Given the description of an element on the screen output the (x, y) to click on. 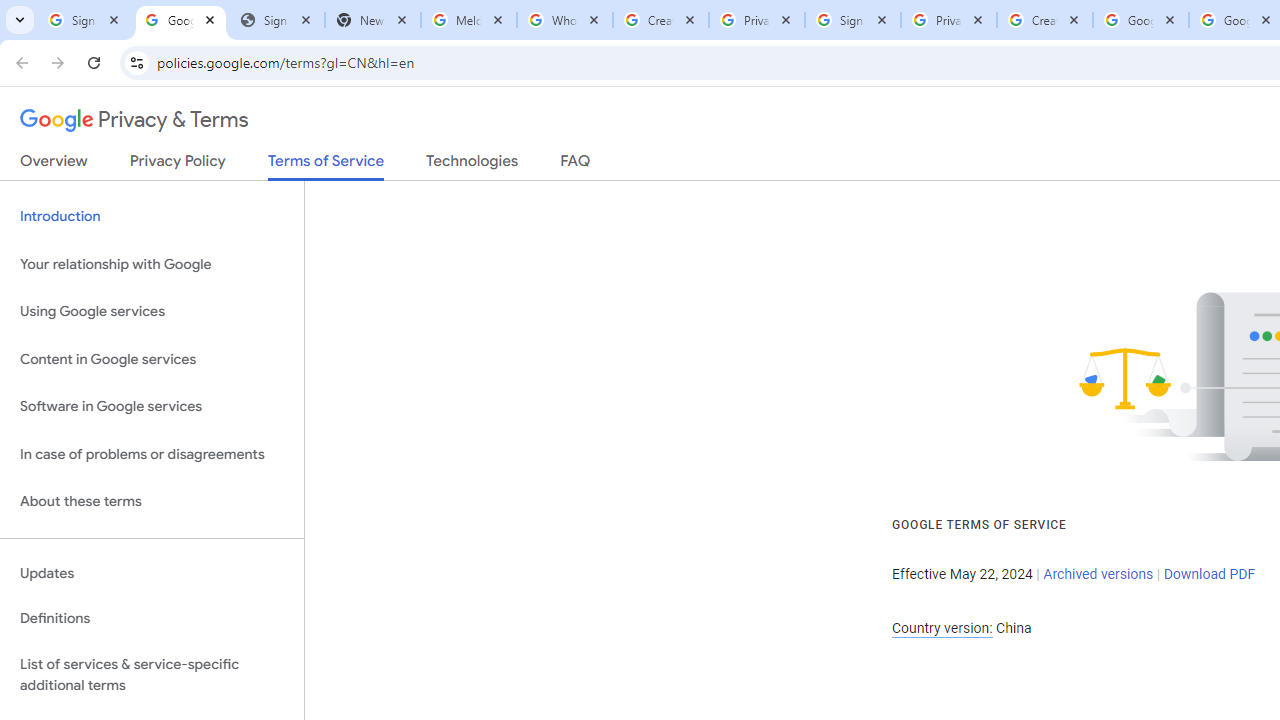
Back (19, 62)
Sign in - Google Accounts (85, 20)
Terms of Service (326, 166)
Archived versions (1098, 574)
Who is my administrator? - Google Account Help (565, 20)
Sign in - Google Accounts (853, 20)
System (10, 11)
